Given the description of an element on the screen output the (x, y) to click on. 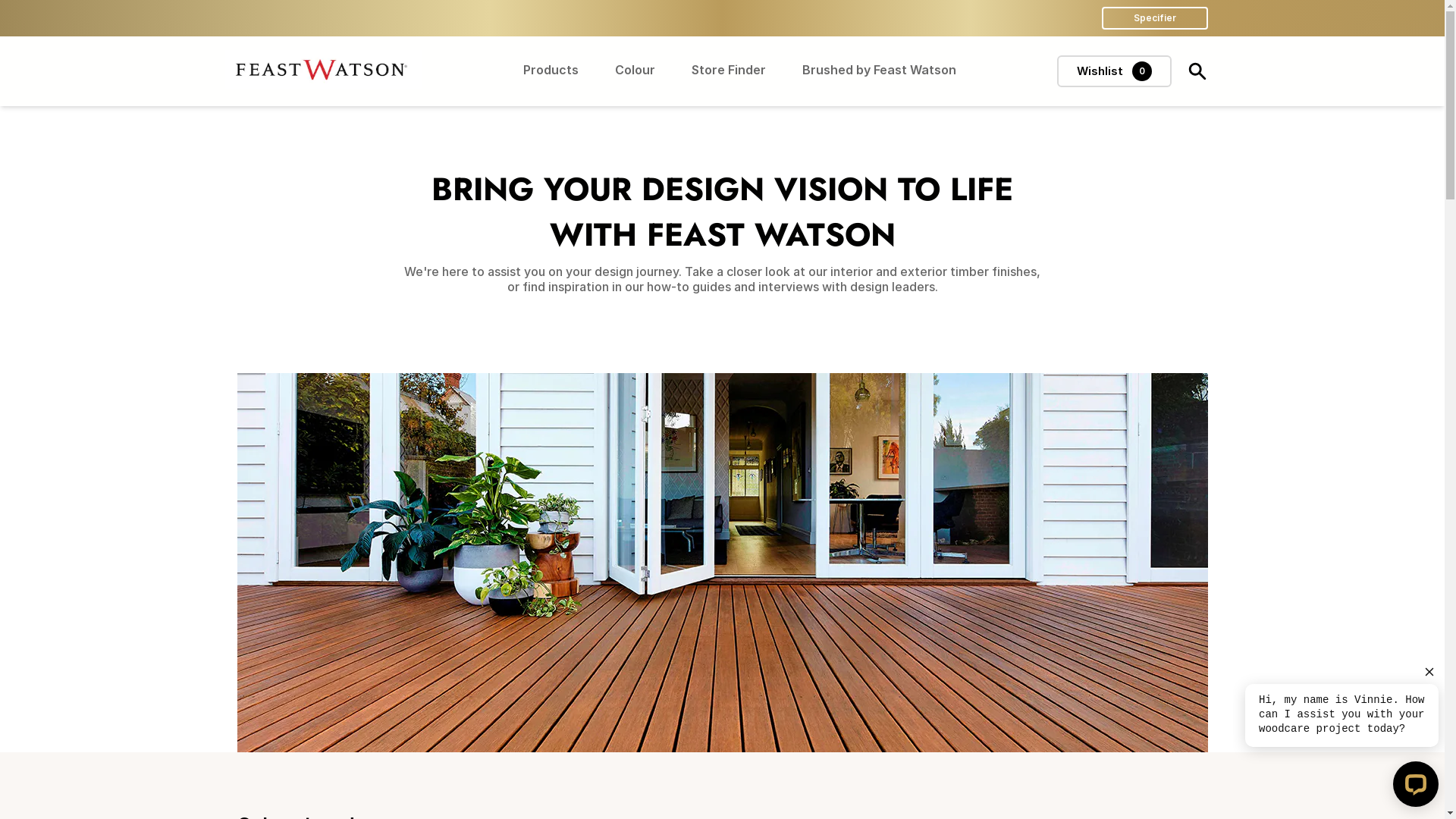
Wishlist
0 Element type: text (1114, 71)
Specifier Element type: text (1154, 17)
Products Element type: text (550, 71)
Store Finder Element type: text (728, 71)
Wishlist
0 Element type: text (1113, 71)
Brushed by Feast Watson Element type: text (879, 71)
Colour Element type: text (634, 71)
